Given the description of an element on the screen output the (x, y) to click on. 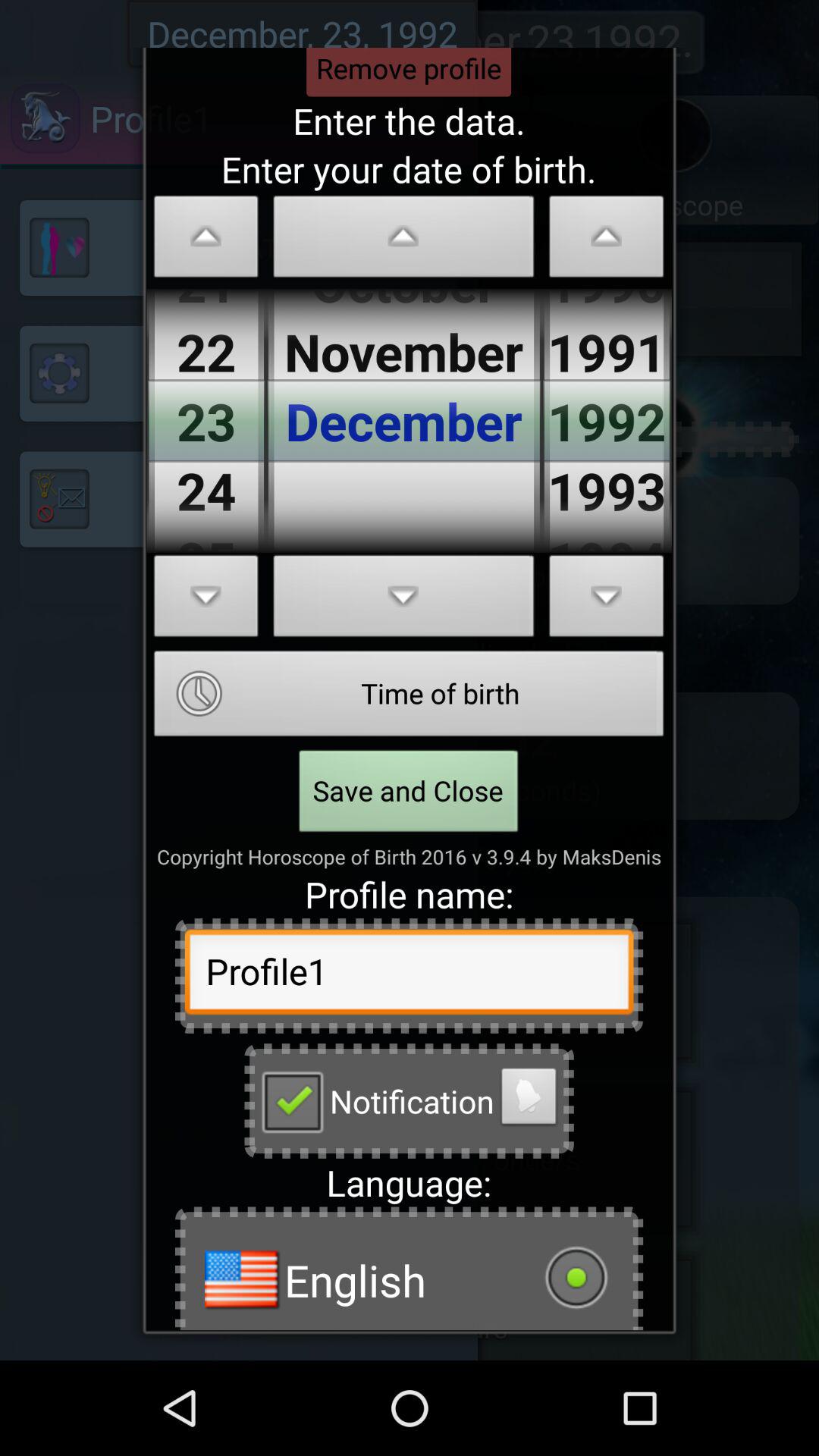
previous day (206, 240)
